Given the description of an element on the screen output the (x, y) to click on. 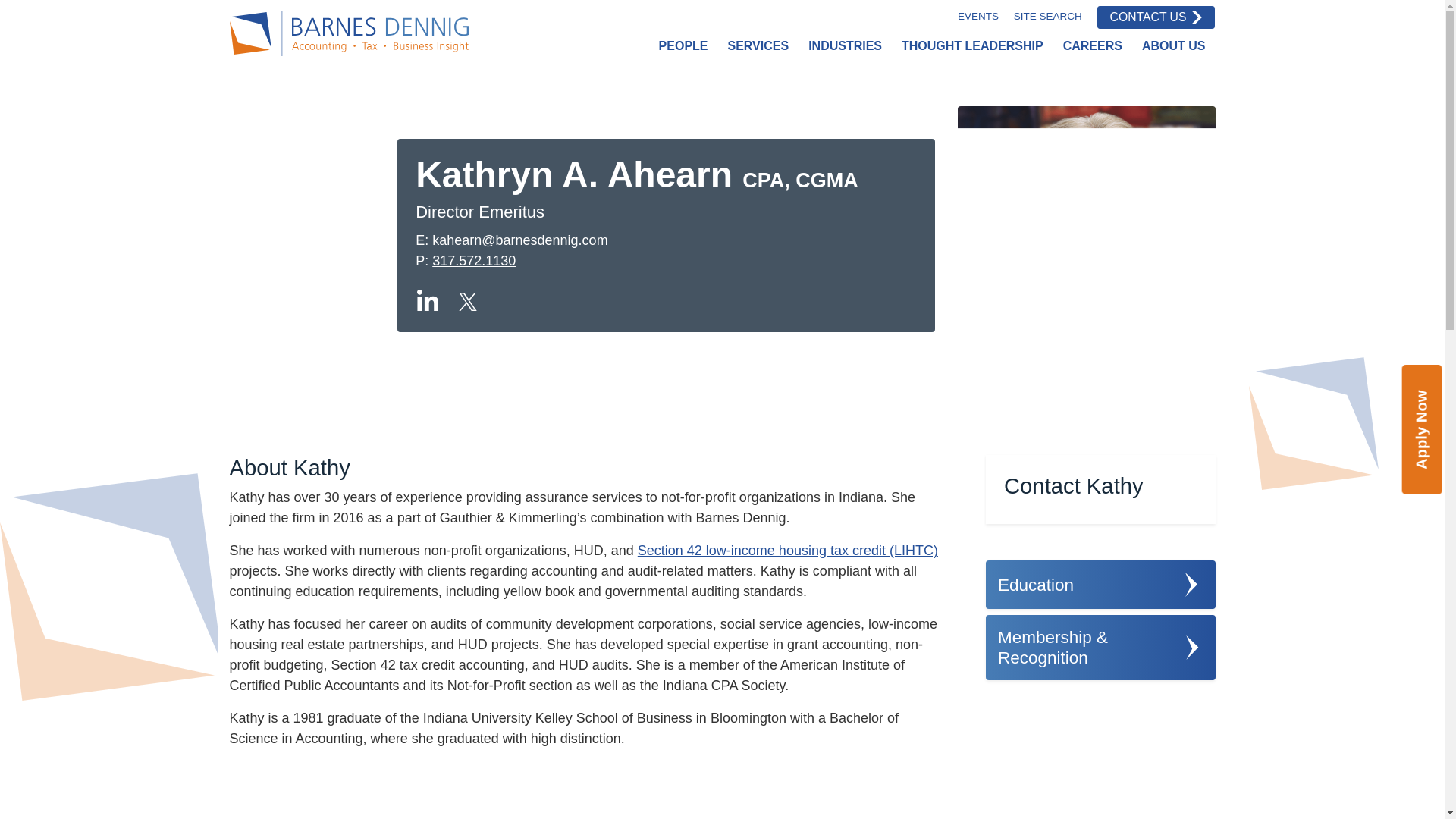
LinkedIn (426, 301)
SITE SEARCH (1047, 16)
SERVICES (757, 46)
CONTACT US (1155, 16)
PEOPLE (683, 46)
EVENTS (978, 16)
